Given the description of an element on the screen output the (x, y) to click on. 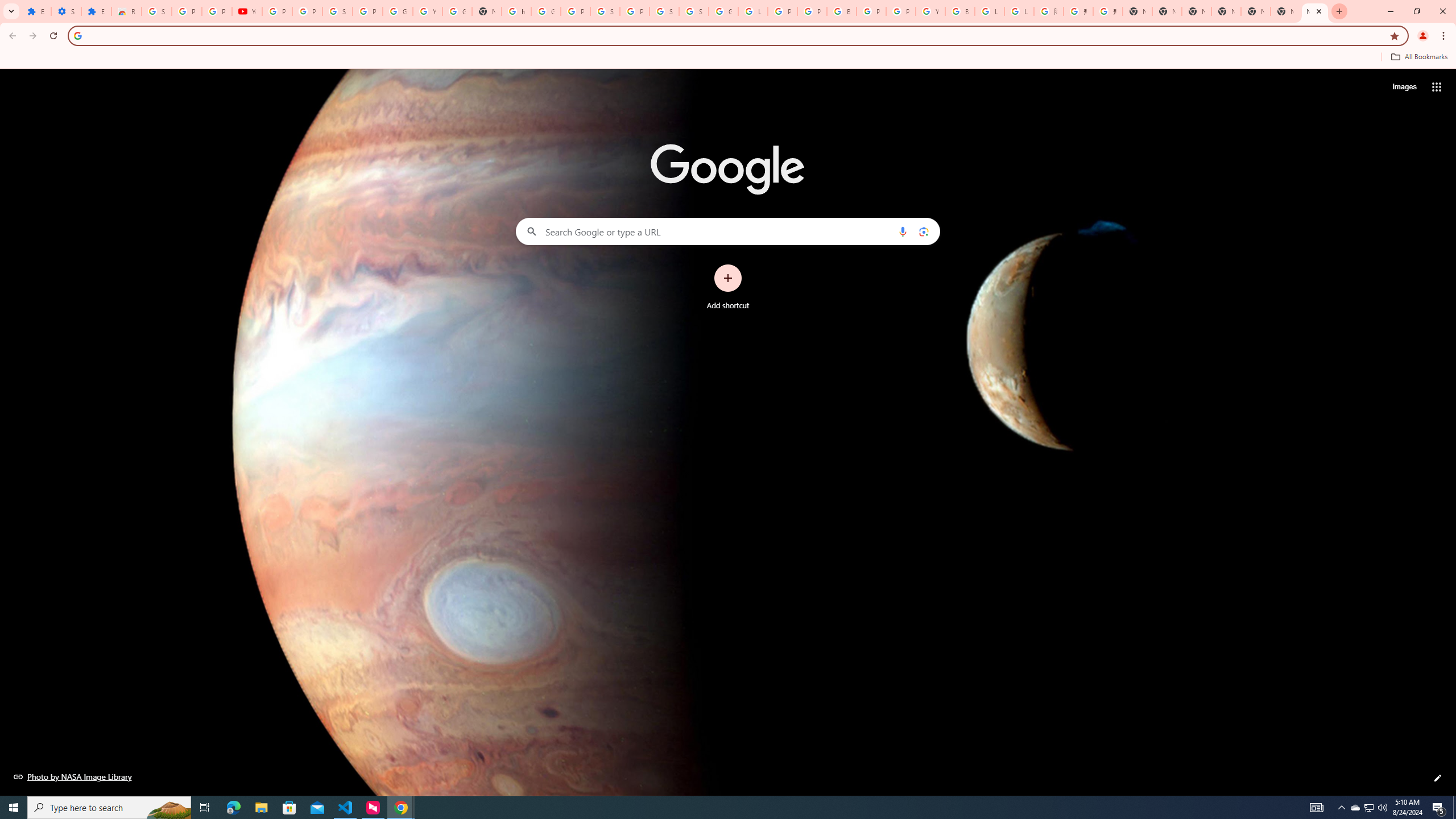
Customize this page (1437, 778)
New Tab (1255, 11)
Privacy Help Center - Policies Help (811, 11)
Extensions (36, 11)
YouTube (247, 11)
